Given the description of an element on the screen output the (x, y) to click on. 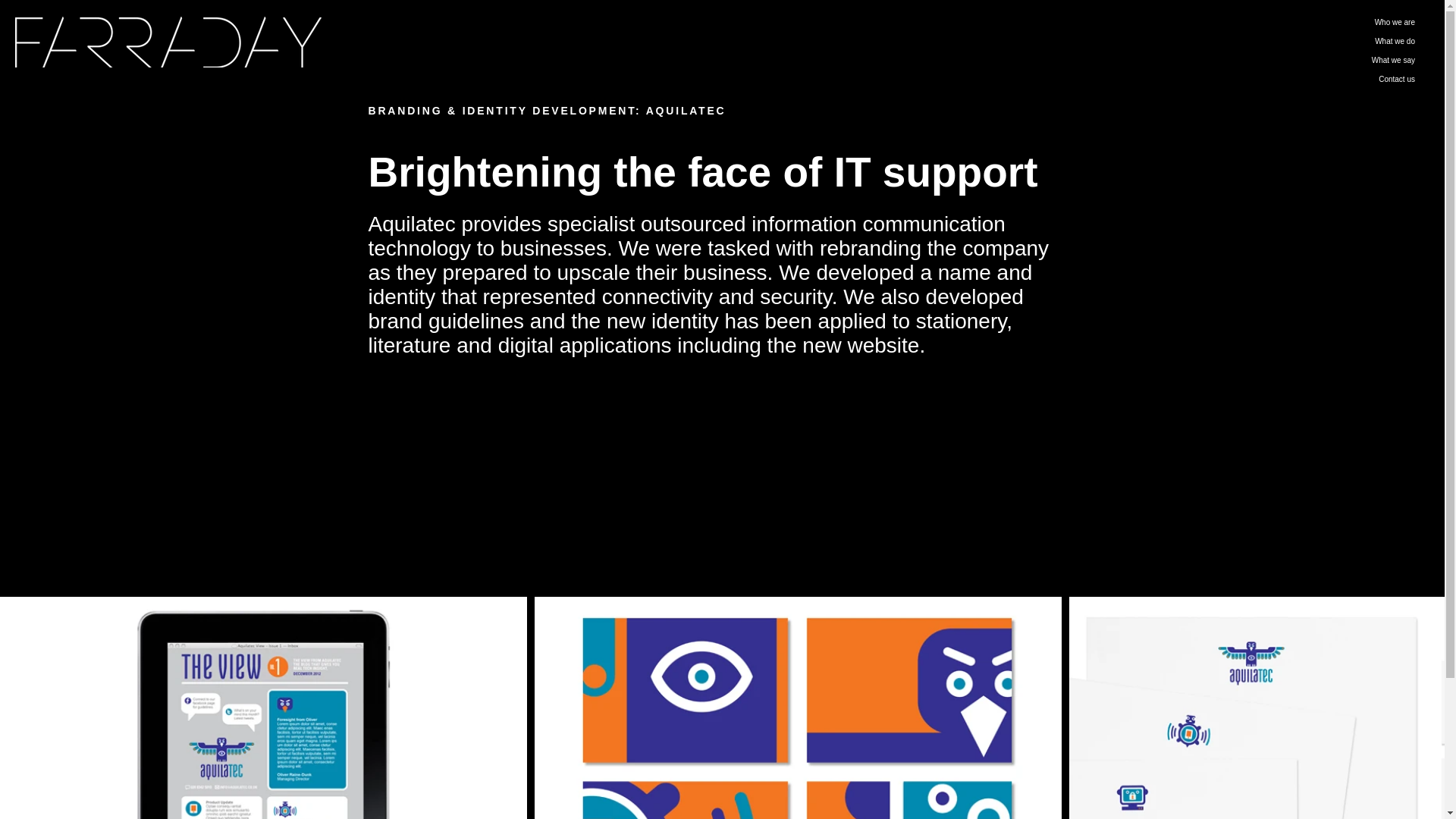
Who we are (1329, 22)
What we say (1329, 59)
Contact us (1329, 78)
What we do (1329, 40)
